Given the description of an element on the screen output the (x, y) to click on. 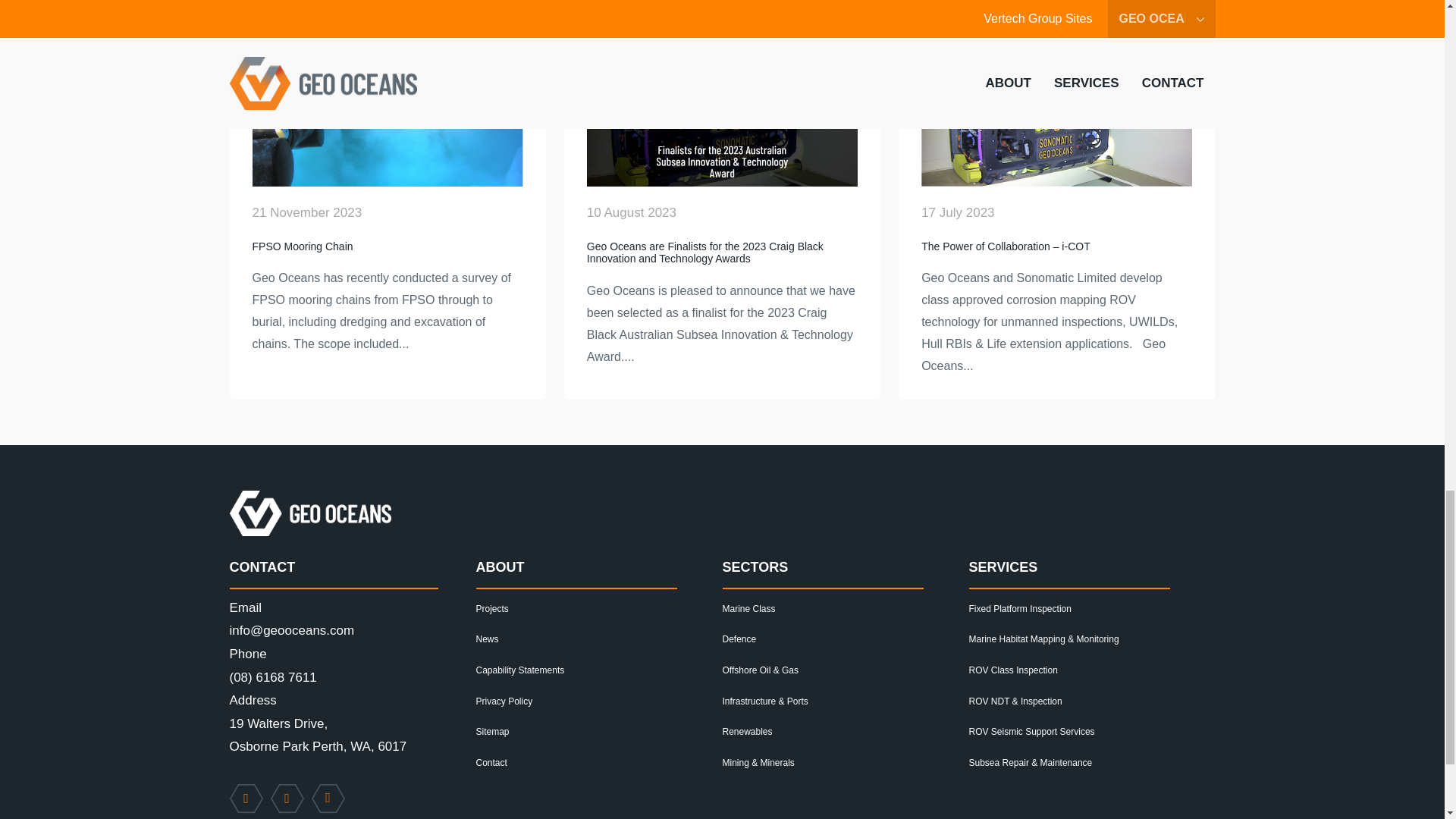
Geo Oceans (309, 513)
